Given the description of an element on the screen output the (x, y) to click on. 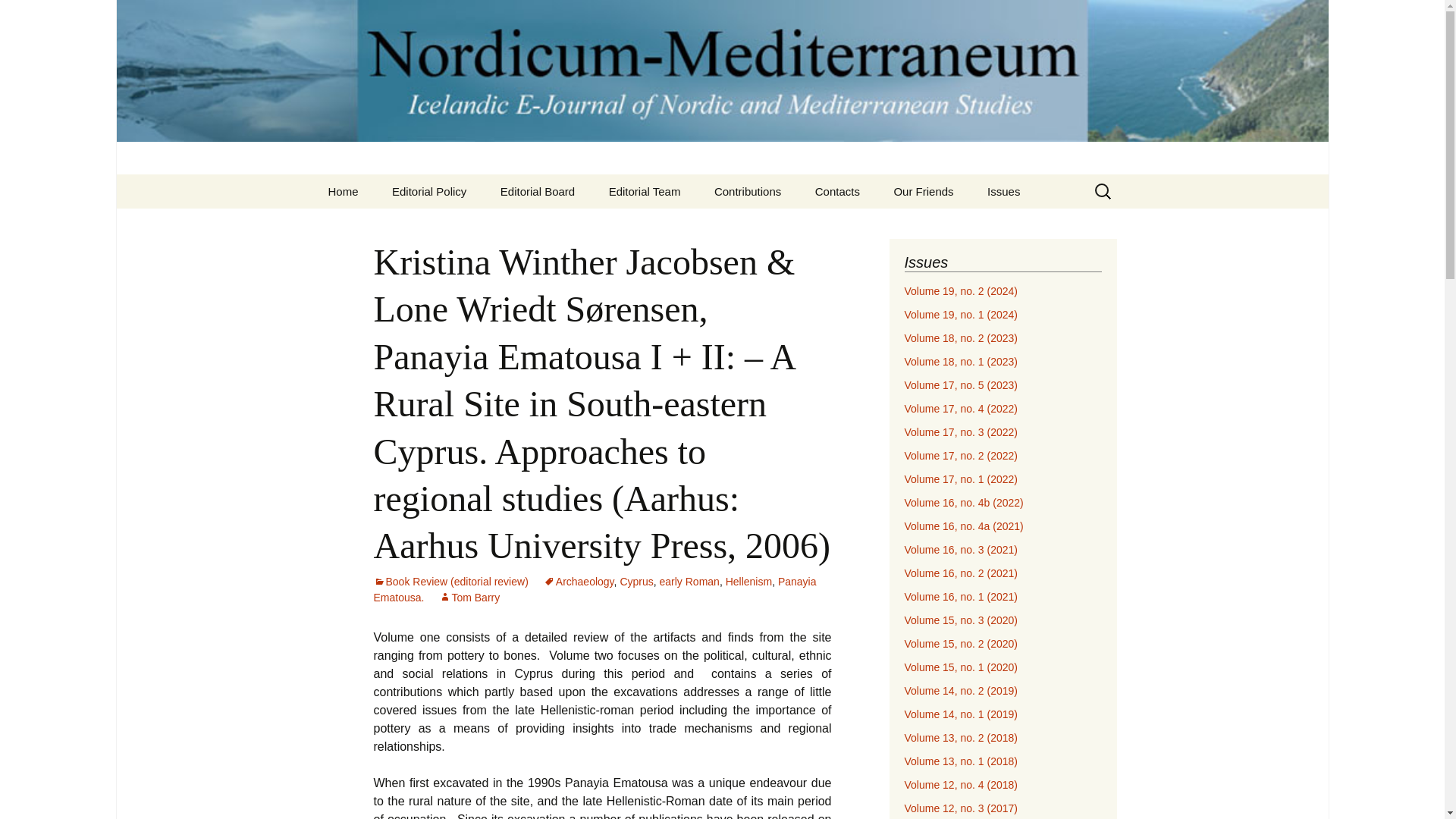
Editorial Board (536, 191)
Contributions (747, 191)
Contacts (837, 191)
Editorial Team (644, 191)
Editorial Policy (429, 191)
Issues (1003, 191)
Home (342, 191)
View all posts by Tom Barry (469, 597)
Our Friends (922, 191)
